Given the description of an element on the screen output the (x, y) to click on. 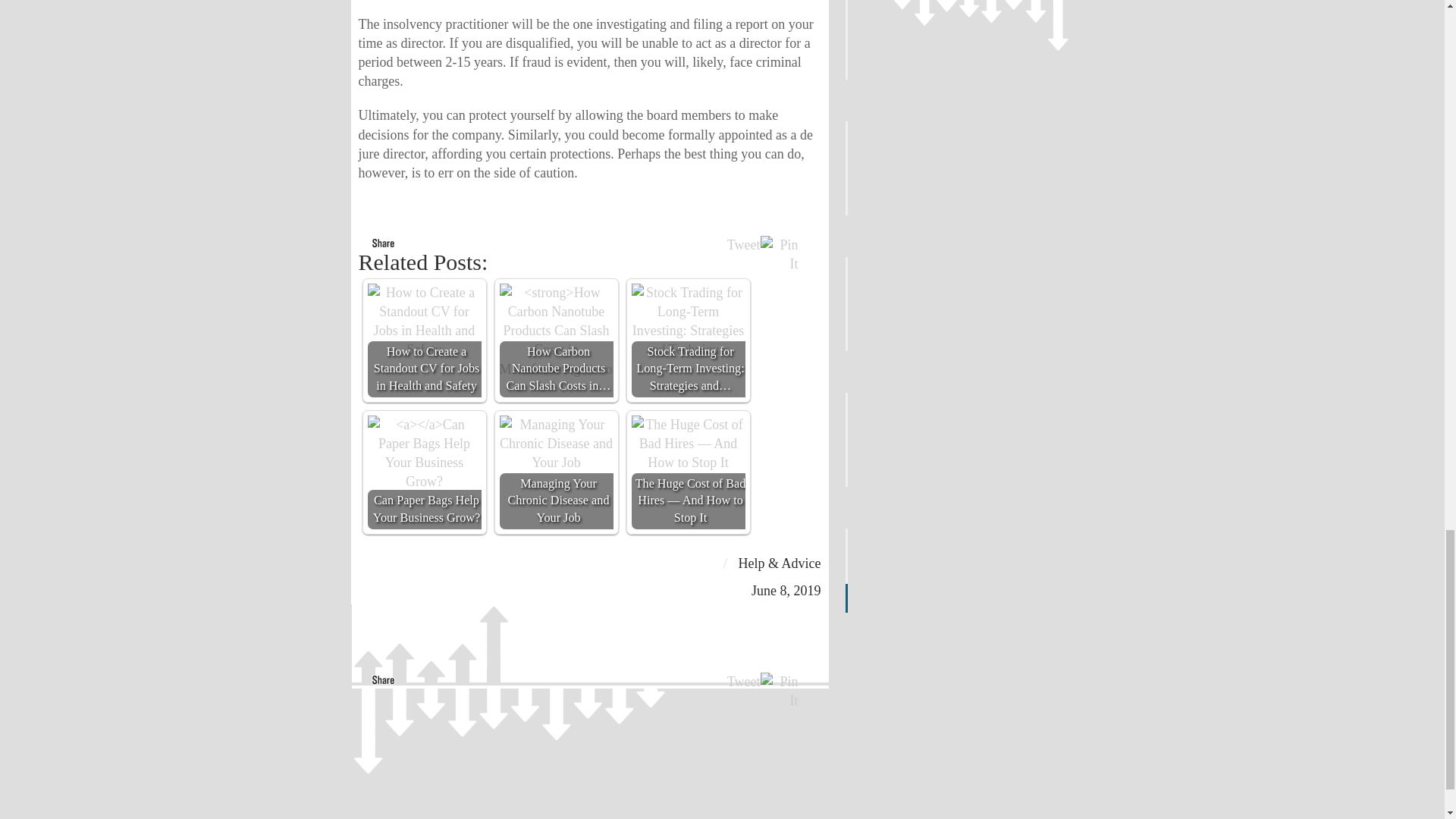
How to Create a Standout CV for Jobs in Health and Safety (423, 340)
Managing Your Chronic Disease and Your Job (555, 444)
Pin It (778, 691)
Managing Your Chronic Disease and Your Job (555, 472)
Pin It (778, 254)
Tweet (743, 244)
How to Create a Standout CV for Jobs in Health and Safety (423, 321)
Tweet (743, 681)
Can Paper Bags Help Your Business Grow? (423, 472)
